Given the description of an element on the screen output the (x, y) to click on. 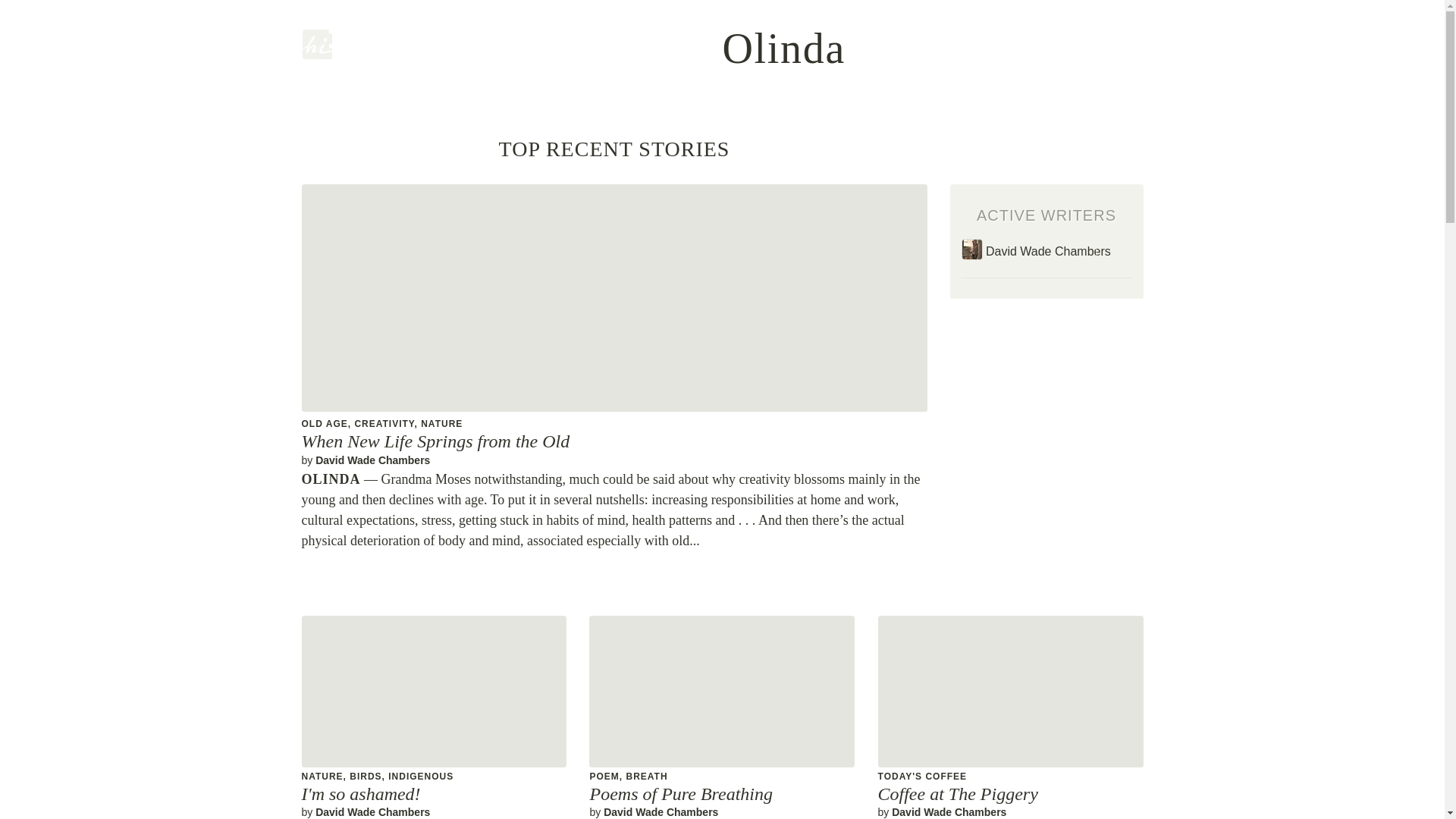
David Wade Chambers (1046, 252)
David Wade Chambers (660, 811)
Coffee at The Piggery (957, 793)
OLD AGE (324, 423)
I'm so ashamed! (360, 793)
When New Life Springs from the Old (435, 441)
David Wade Chambers (948, 811)
David Wade Chambers (372, 811)
Poems of Pure Breathing (681, 793)
CREATIVITY (383, 423)
OLINDA (331, 478)
NATURE (441, 423)
David Wade Chambers (372, 460)
